Given the description of an element on the screen output the (x, y) to click on. 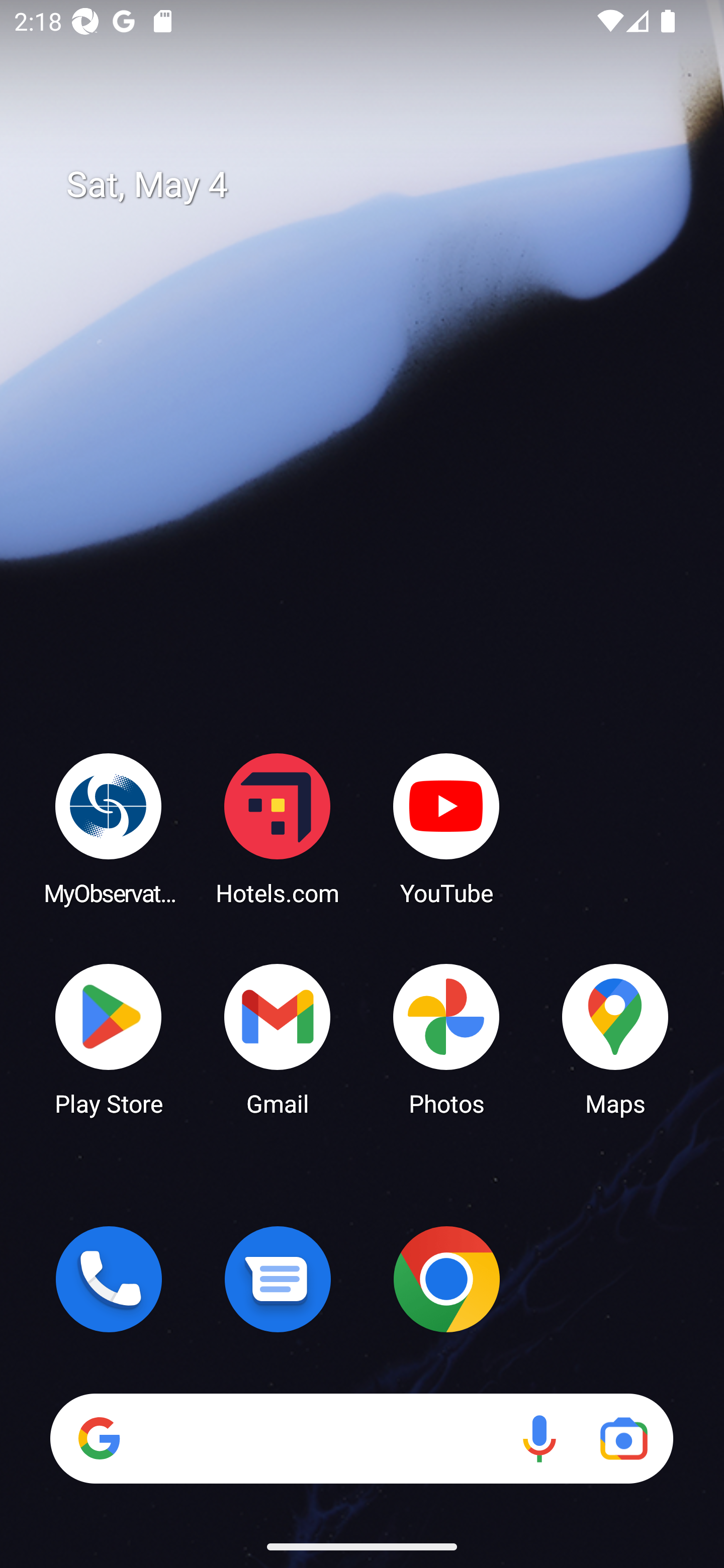
Sat, May 4 (375, 184)
MyObservatory (108, 828)
Hotels.com (277, 828)
YouTube (445, 828)
Play Store (108, 1038)
Gmail (277, 1038)
Photos (445, 1038)
Maps (615, 1038)
Phone (108, 1279)
Messages (277, 1279)
Chrome (446, 1279)
Search Voice search Google Lens (361, 1438)
Voice search (539, 1438)
Google Lens (623, 1438)
